Given the description of an element on the screen output the (x, y) to click on. 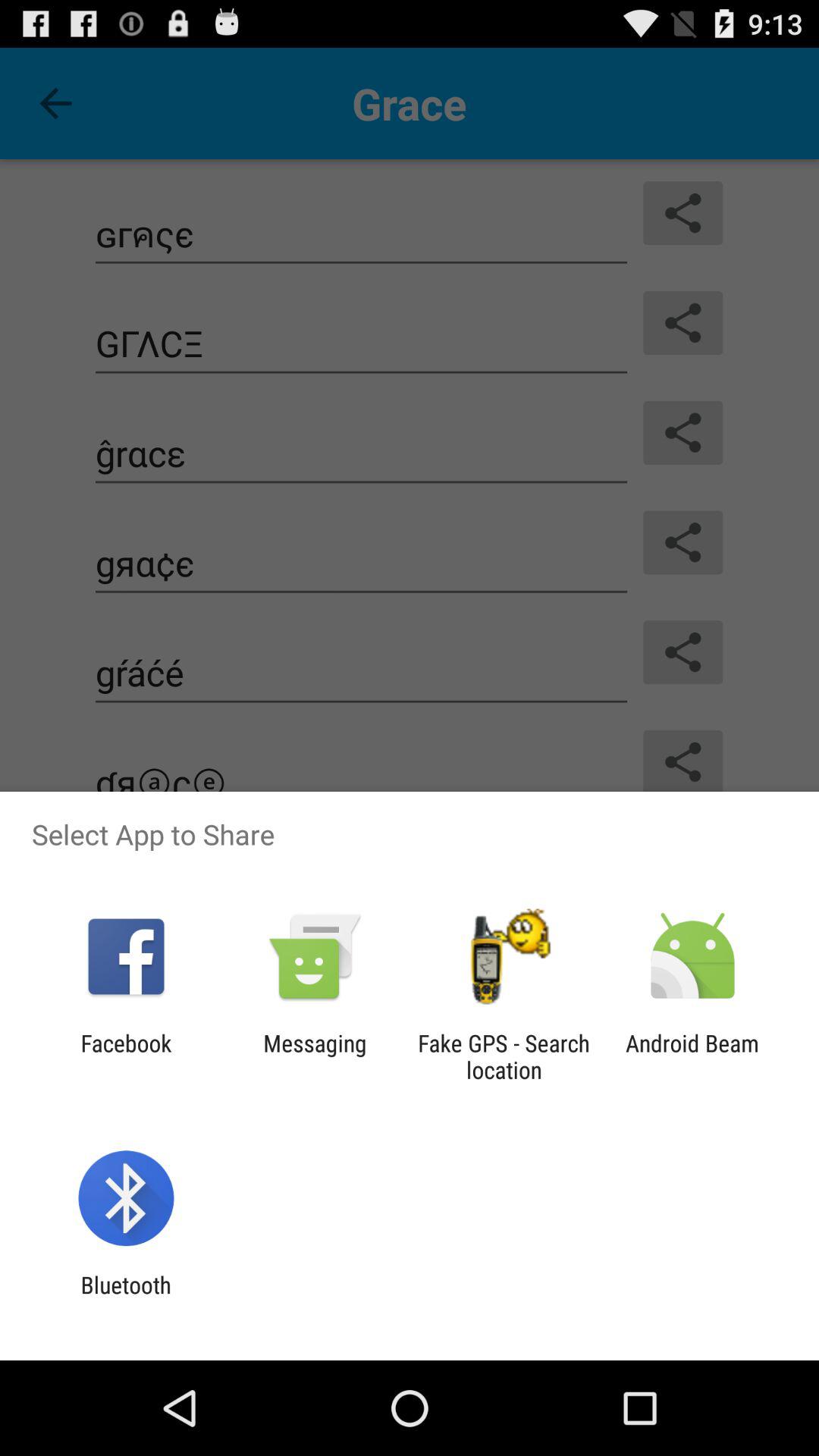
select the icon to the right of fake gps search app (692, 1056)
